Given the description of an element on the screen output the (x, y) to click on. 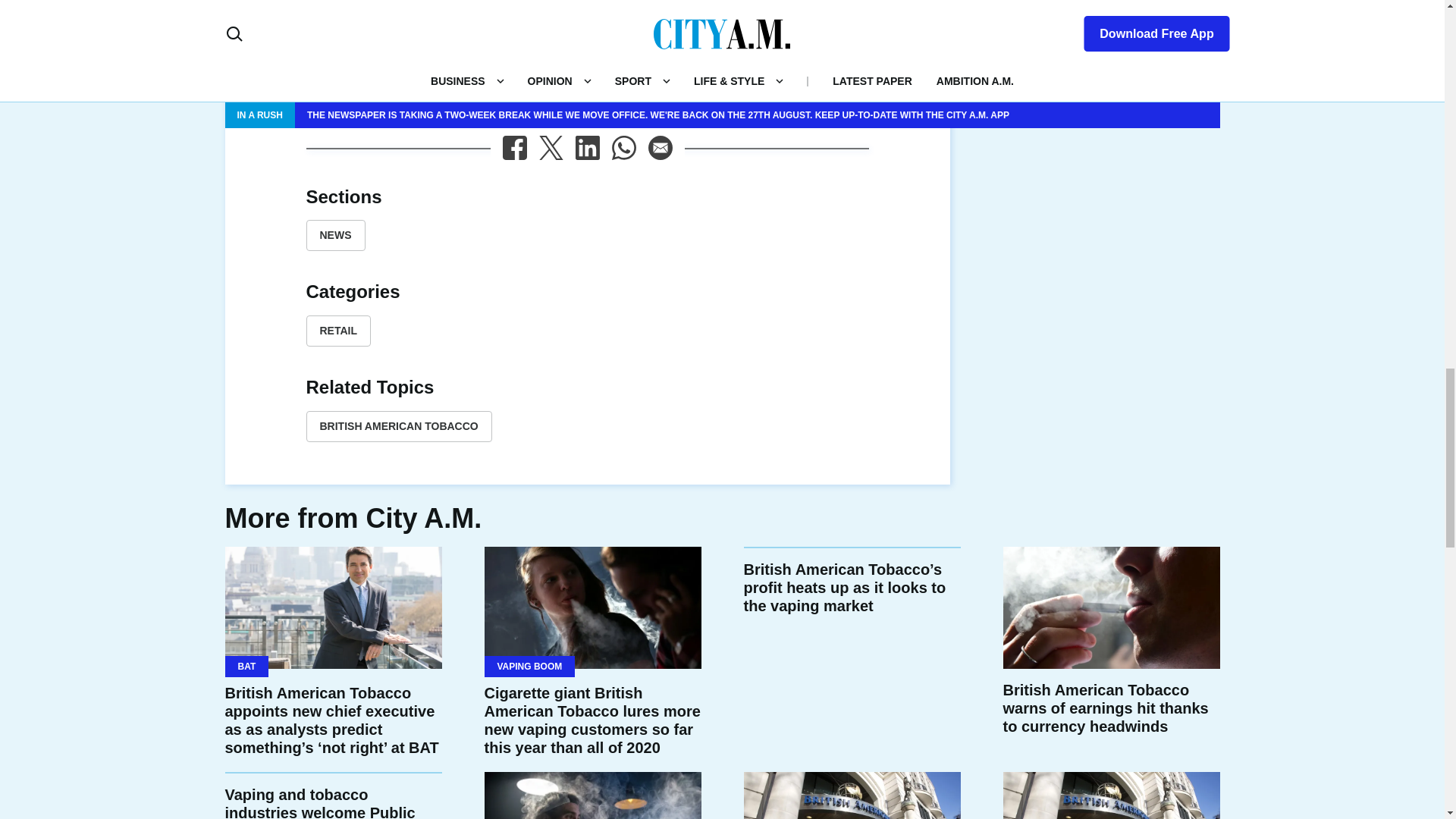
X (550, 147)
LinkedIn (586, 147)
Facebook (513, 147)
Email (659, 147)
WhatsApp (622, 147)
